Given the description of an element on the screen output the (x, y) to click on. 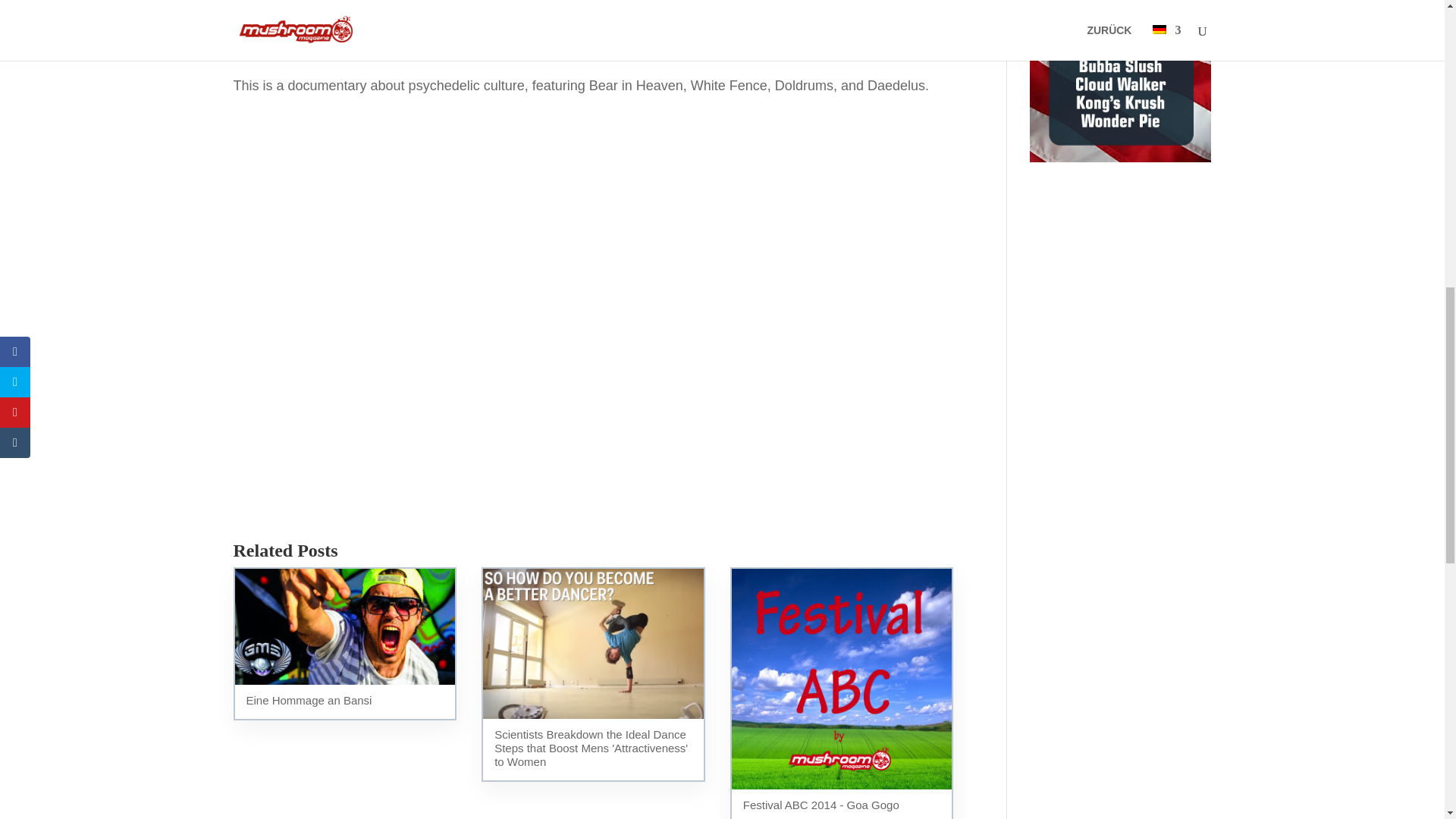
Festival ABC 2014 - Goa Gogo (841, 693)
Eine Hommage an Bansi (344, 643)
